Given the description of an element on the screen output the (x, y) to click on. 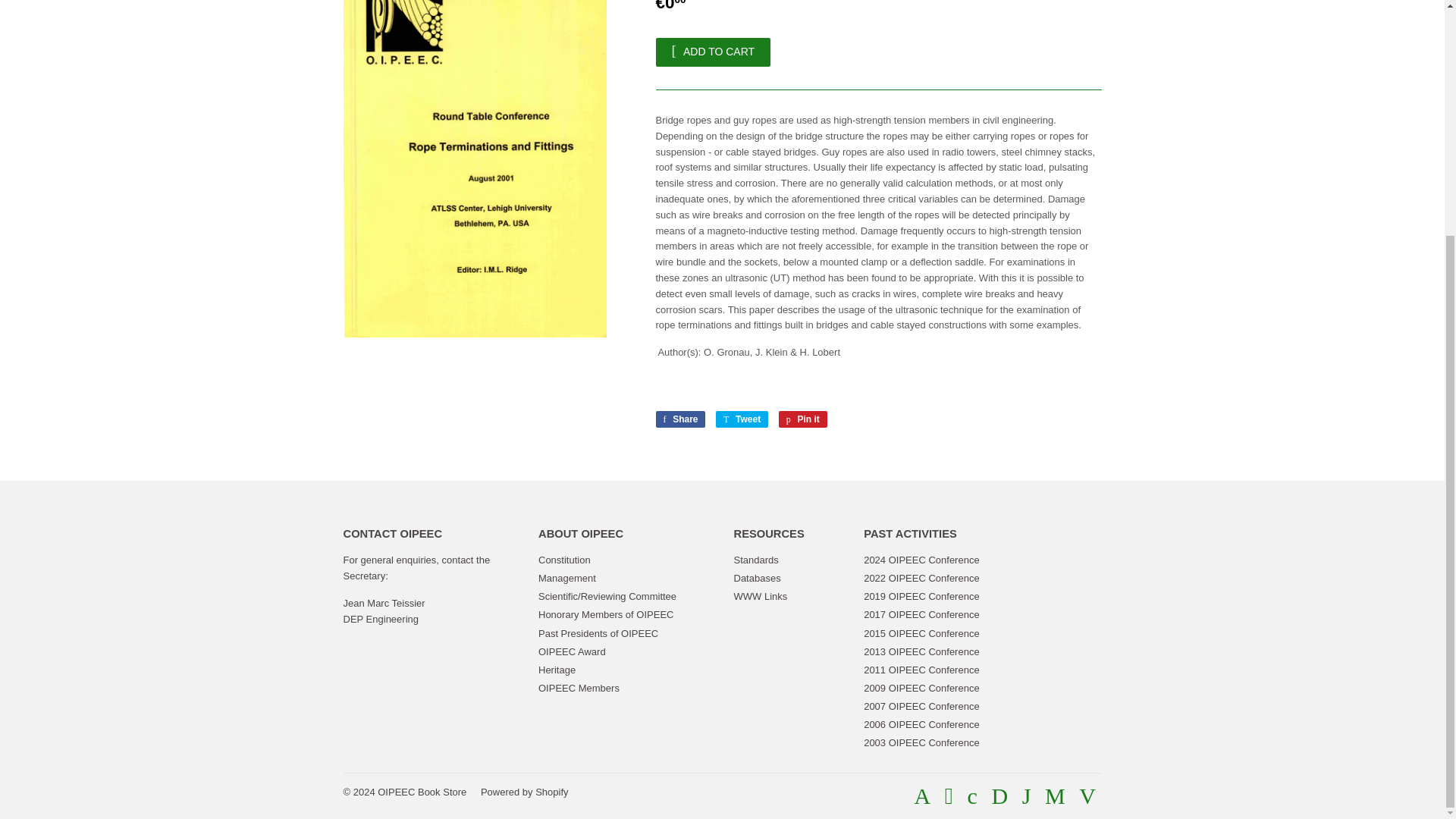
Tweet on Twitter (742, 419)
Pin on Pinterest (802, 419)
Share on Facebook (679, 419)
